Given the description of an element on the screen output the (x, y) to click on. 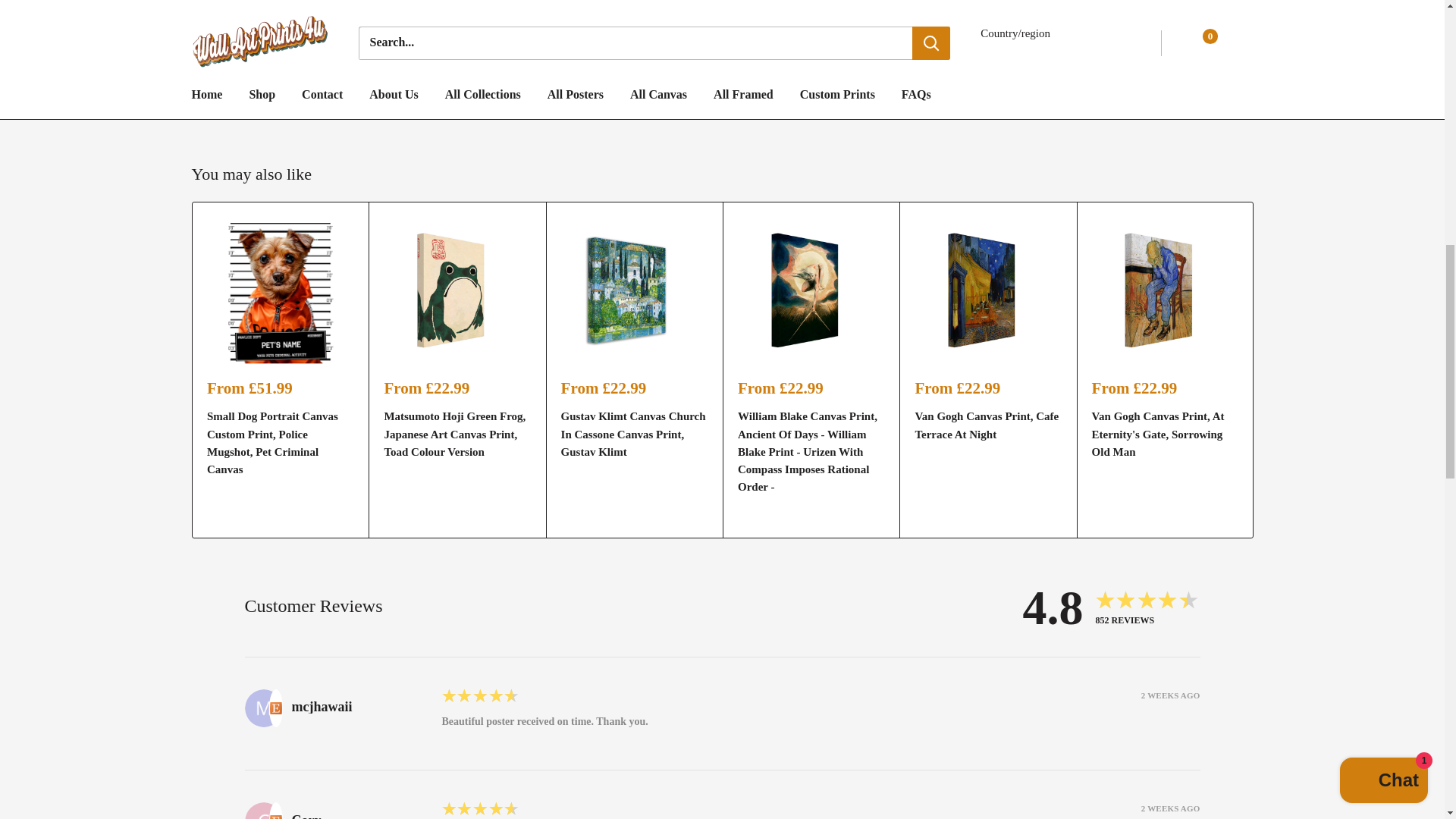
This review was originally posted on Etsy. (274, 810)
This review was originally posted on Etsy. (274, 708)
